Given the description of an element on the screen output the (x, y) to click on. 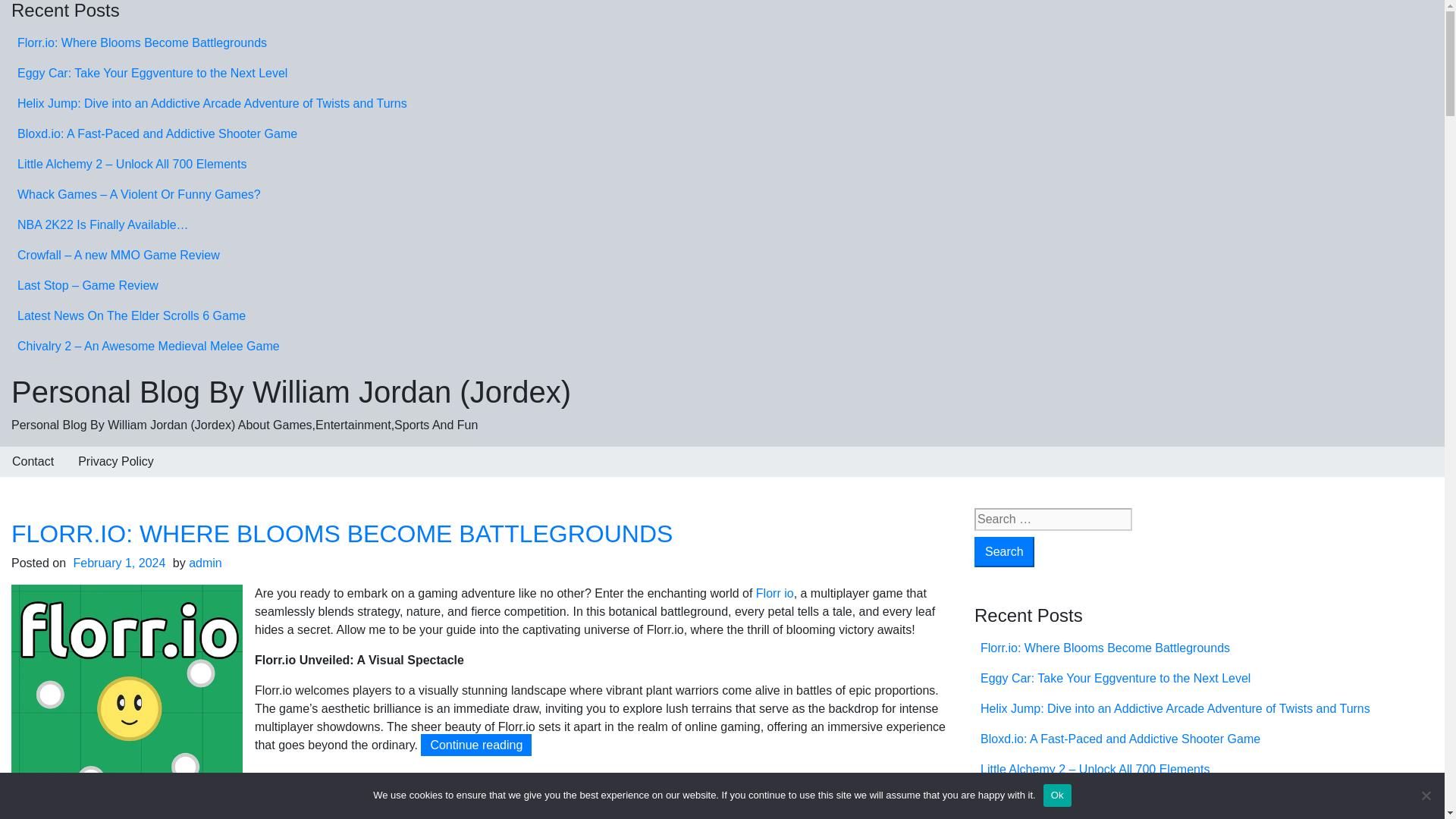
Search (1003, 552)
Florr.io: Where Blooms Become Battlegrounds (141, 42)
FLORR.IO: WHERE BLOOMS BECOME BATTLEGROUNDS (341, 533)
Latest News On The Elder Scrolls 6 Game (131, 315)
Eggy Car: Take Your Eggventure to the Next Level (151, 72)
Florr io (774, 593)
February 1, 2024 (119, 562)
admin (205, 562)
Bloxd.io: A Fast-Paced and Addictive Shooter Game (157, 133)
Privacy Policy (115, 461)
Search (1003, 552)
No (1425, 795)
Contact (32, 461)
